Given the description of an element on the screen output the (x, y) to click on. 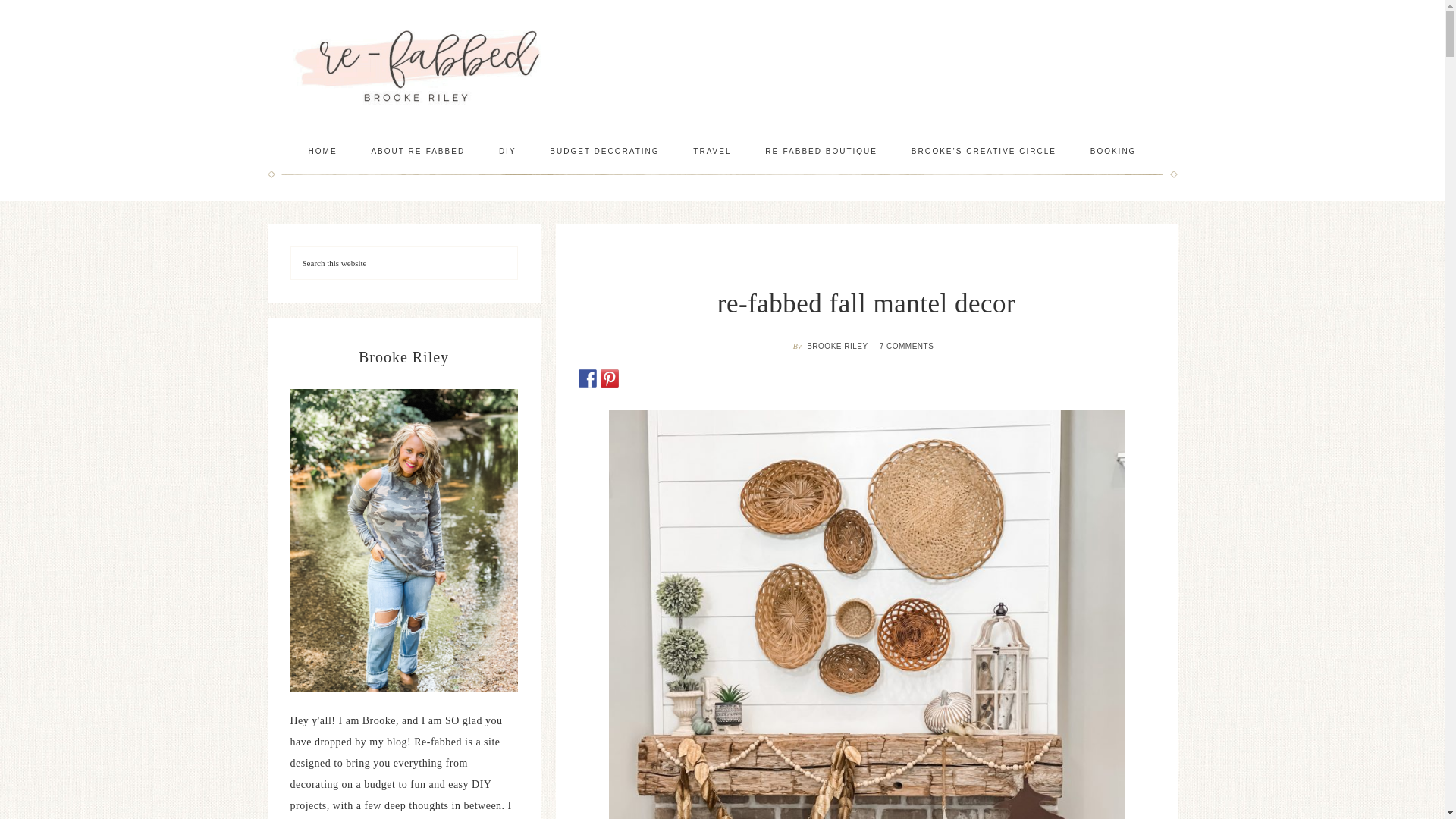
TRAVEL (711, 151)
RE-FABBED BOUTIQUE (820, 151)
DIY (507, 151)
Share on Facebook (586, 378)
RE-FABBED (418, 65)
7 COMMENTS (908, 346)
BROOKE RILEY (838, 346)
HOME (323, 151)
Pin it! (608, 378)
ABOUT RE-FABBED (417, 151)
BUDGET DECORATING (604, 151)
BOOKING (1113, 151)
